Given the description of an element on the screen output the (x, y) to click on. 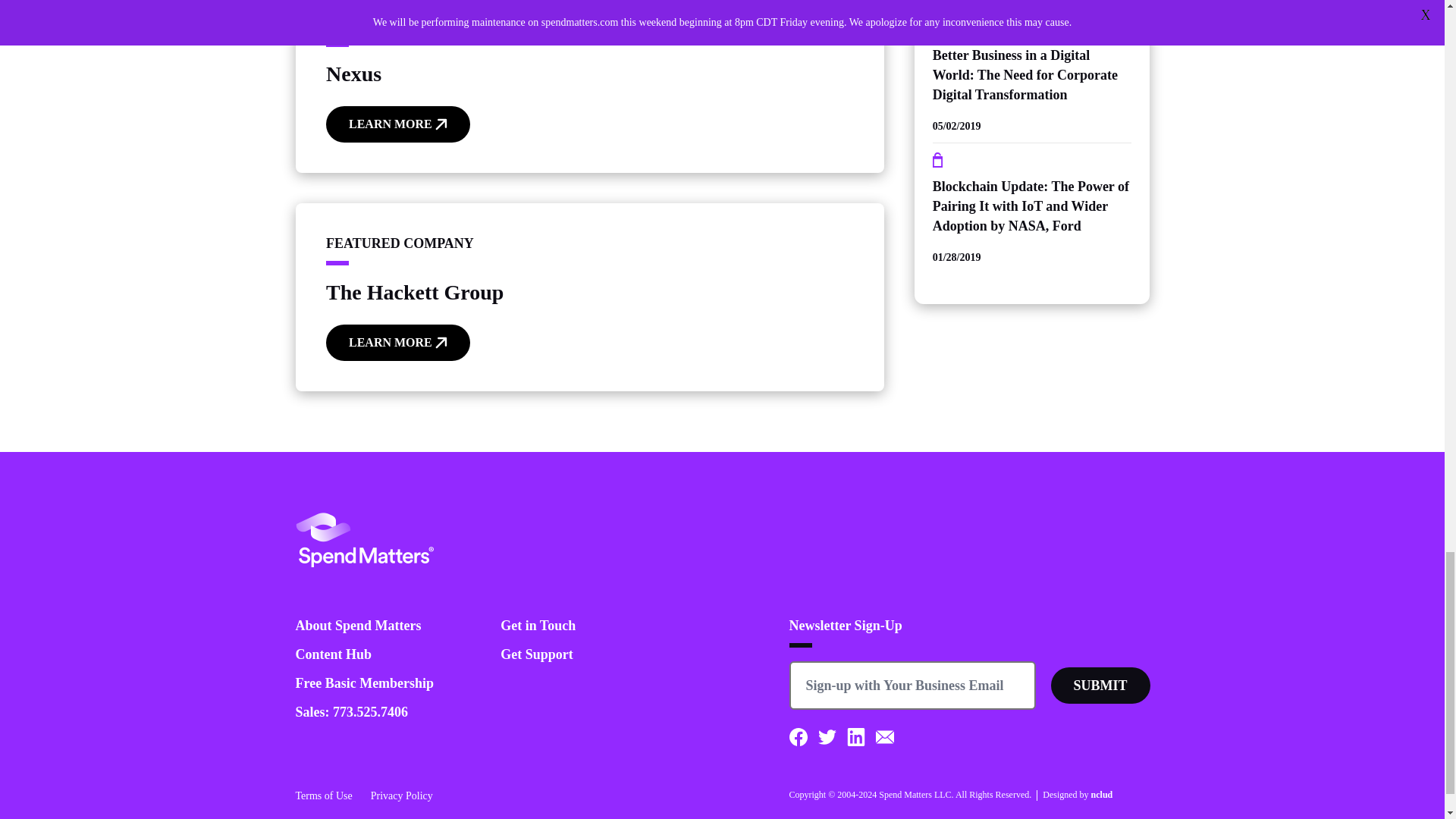
Submit (1100, 685)
Spend Matters (364, 539)
